Given the description of an element on the screen output the (x, y) to click on. 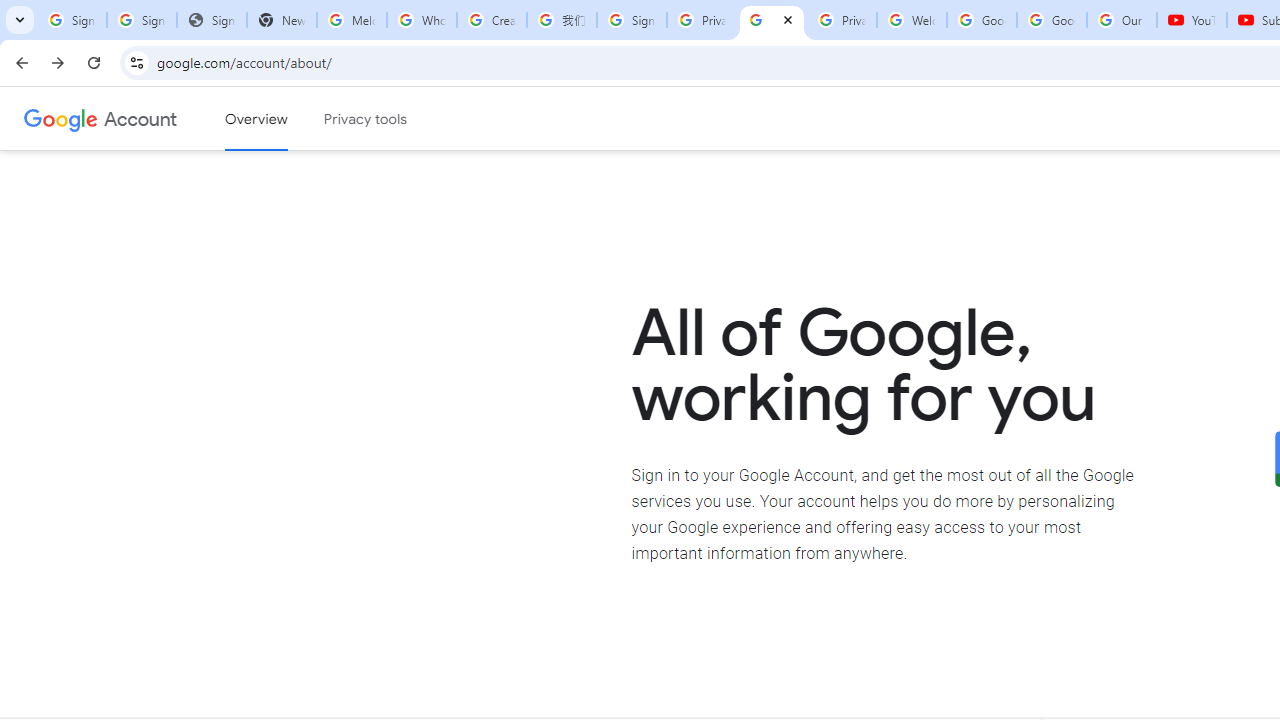
Skip to Content (285, 115)
New Tab (282, 20)
Google Account (1051, 20)
Privacy tools (365, 119)
Google logo (61, 118)
Welcome to My Activity (911, 20)
Create your Google Account (492, 20)
